Given the description of an element on the screen output the (x, y) to click on. 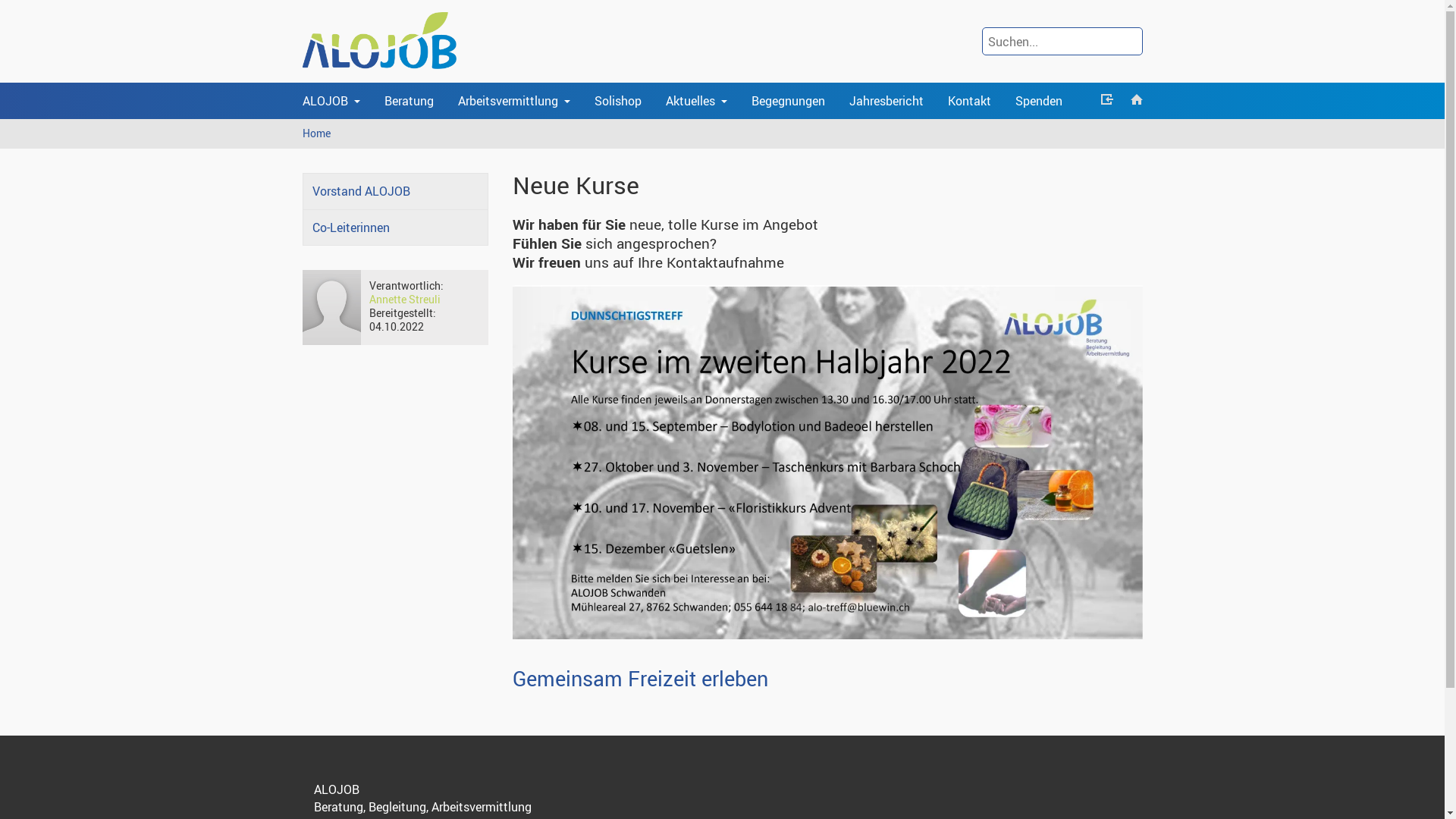
Solishop Element type: text (617, 100)
Neue Kurse 2022 (1) (Foto: Brigitte Baumgartner) Element type: hover (827, 462)
ALOJOB Element type: text (330, 100)
Beratung Element type: text (408, 100)
Arbeitsvermittlung Element type: text (513, 100)
Login Element type: hover (1106, 100)
Spenden Element type: text (1037, 100)
Vorstand ALOJOB Element type: text (394, 190)
Aktuelles Element type: text (696, 100)
Kontakt Element type: text (969, 100)
Co-Leiterinnen Element type: text (394, 227)
Home Element type: hover (1135, 100)
Home Element type: text (316, 133)
Begegnungen Element type: text (787, 100)
Jahresbericht Element type: text (886, 100)
Annette Streuli Element type: text (404, 298)
